Given the description of an element on the screen output the (x, y) to click on. 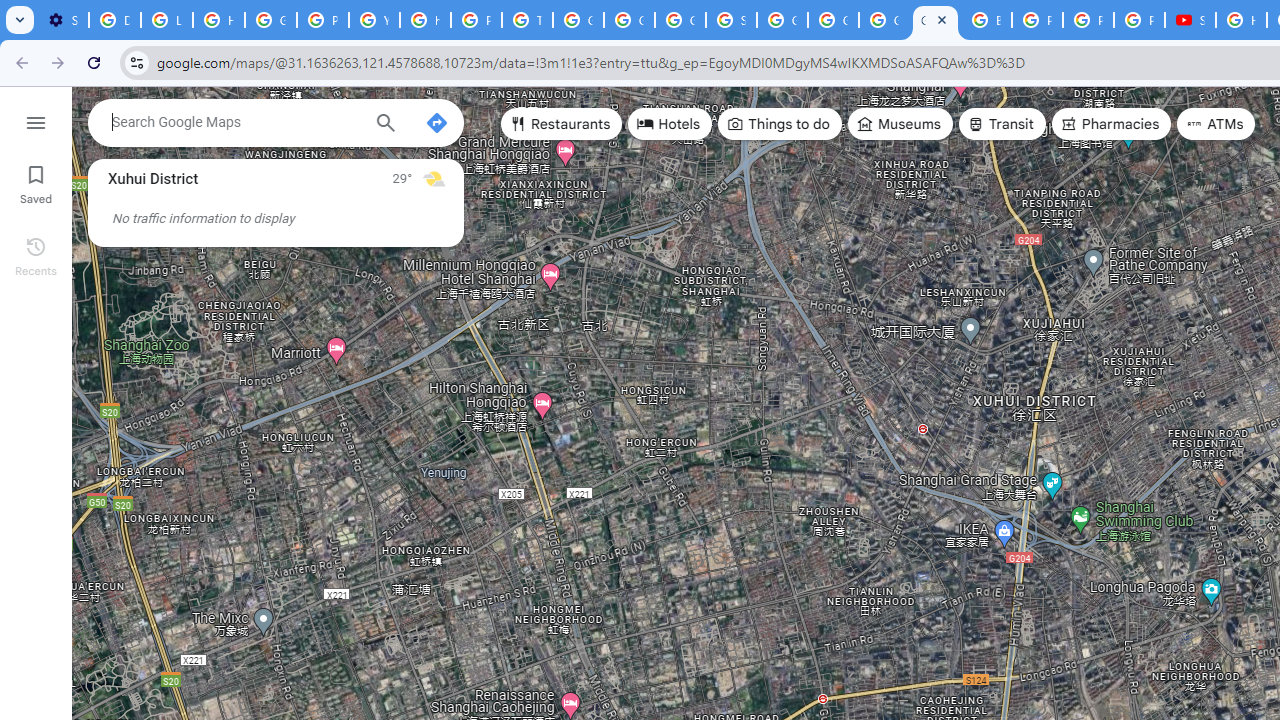
Transit (1001, 124)
Settings - Customize profile (63, 20)
Restaurants (561, 124)
Privacy Help Center - Policies Help (323, 20)
Pharmacies (1111, 124)
Search Google Maps (235, 121)
